Given the description of an element on the screen output the (x, y) to click on. 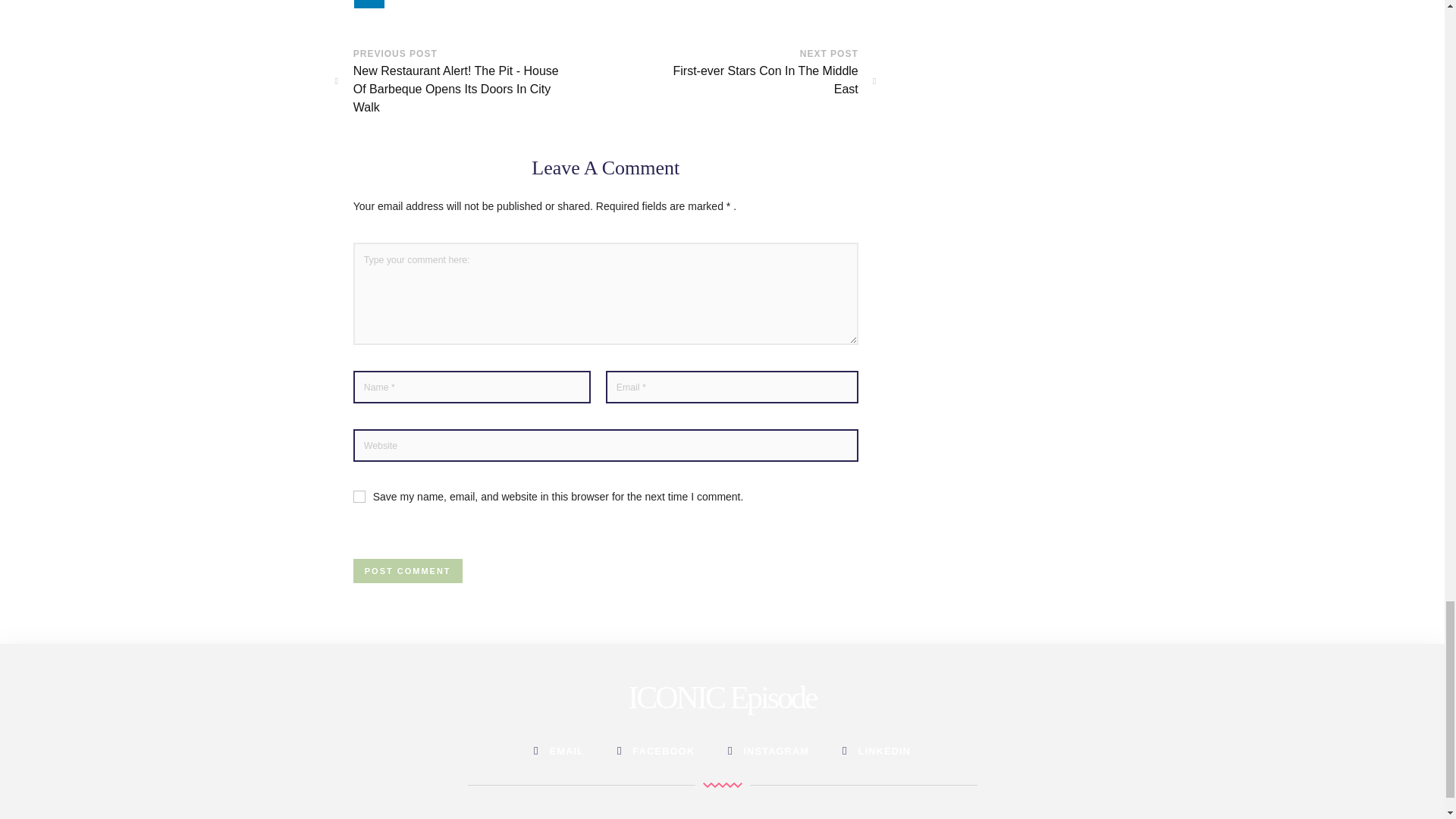
yes (359, 496)
Post Comment (408, 570)
Post Comment (754, 80)
